Given the description of an element on the screen output the (x, y) to click on. 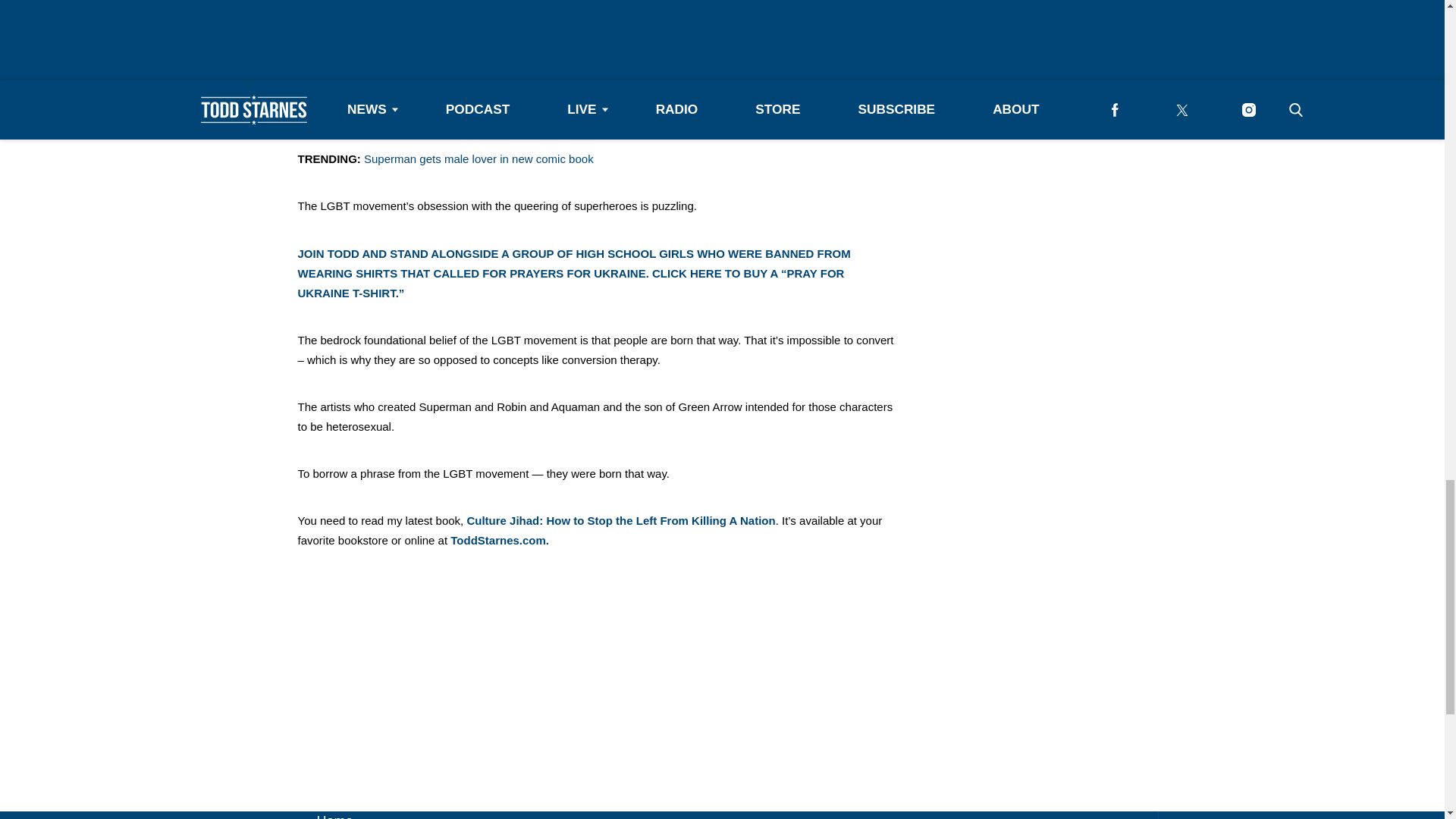
ToddStarnes.com.  (500, 540)
Superman gets male lover in new comic book (479, 158)
Culture Jihad: How to Stop the Left From Killing A Nation (619, 520)
Home (335, 816)
